Given the description of an element on the screen output the (x, y) to click on. 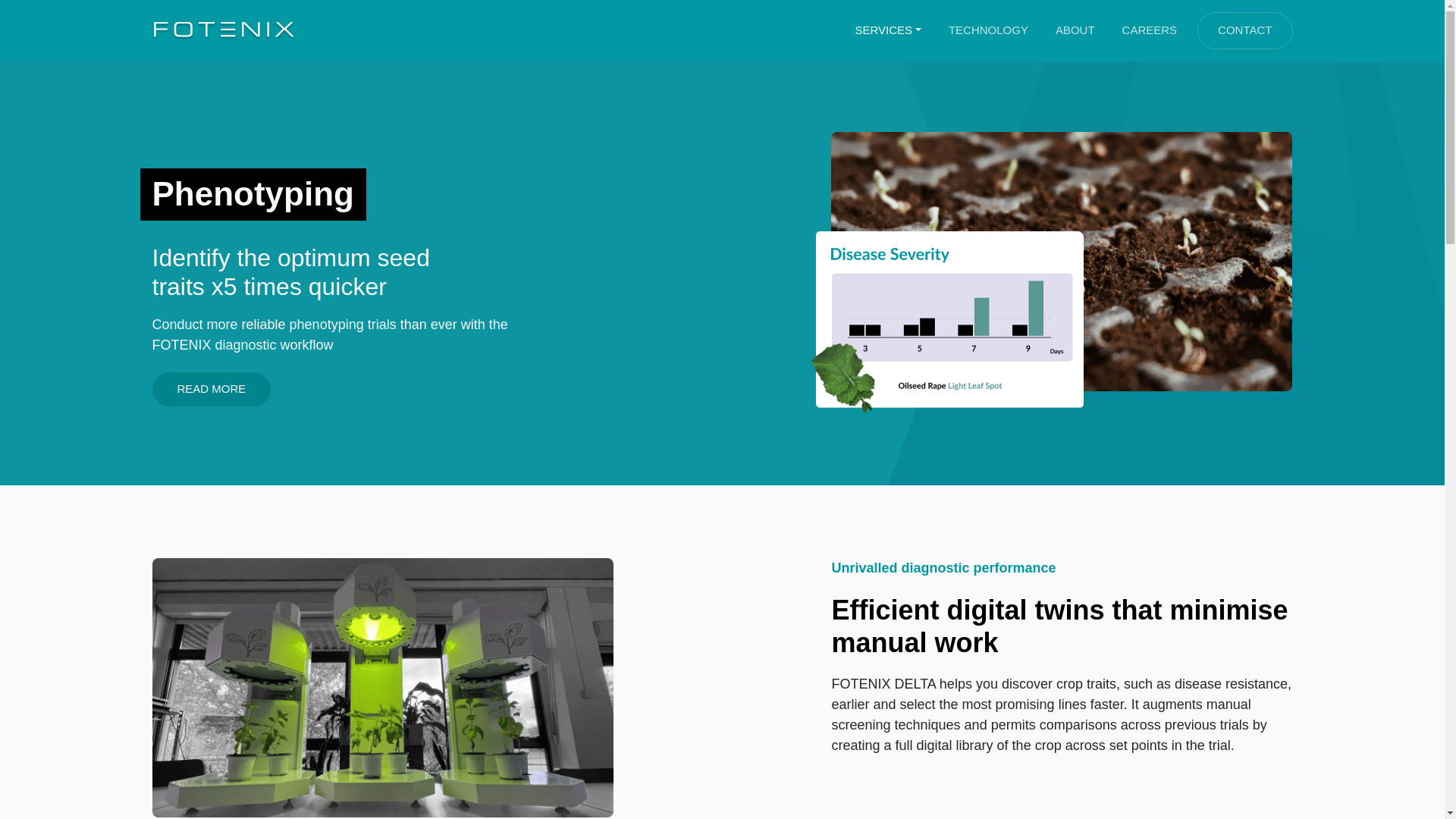
CONTACT (1244, 30)
CAREERS (1150, 30)
SERVICES (887, 30)
Read more (210, 389)
ABOUT (1075, 30)
TECHNOLOGY (988, 30)
READ MORE (210, 389)
